Given the description of an element on the screen output the (x, y) to click on. 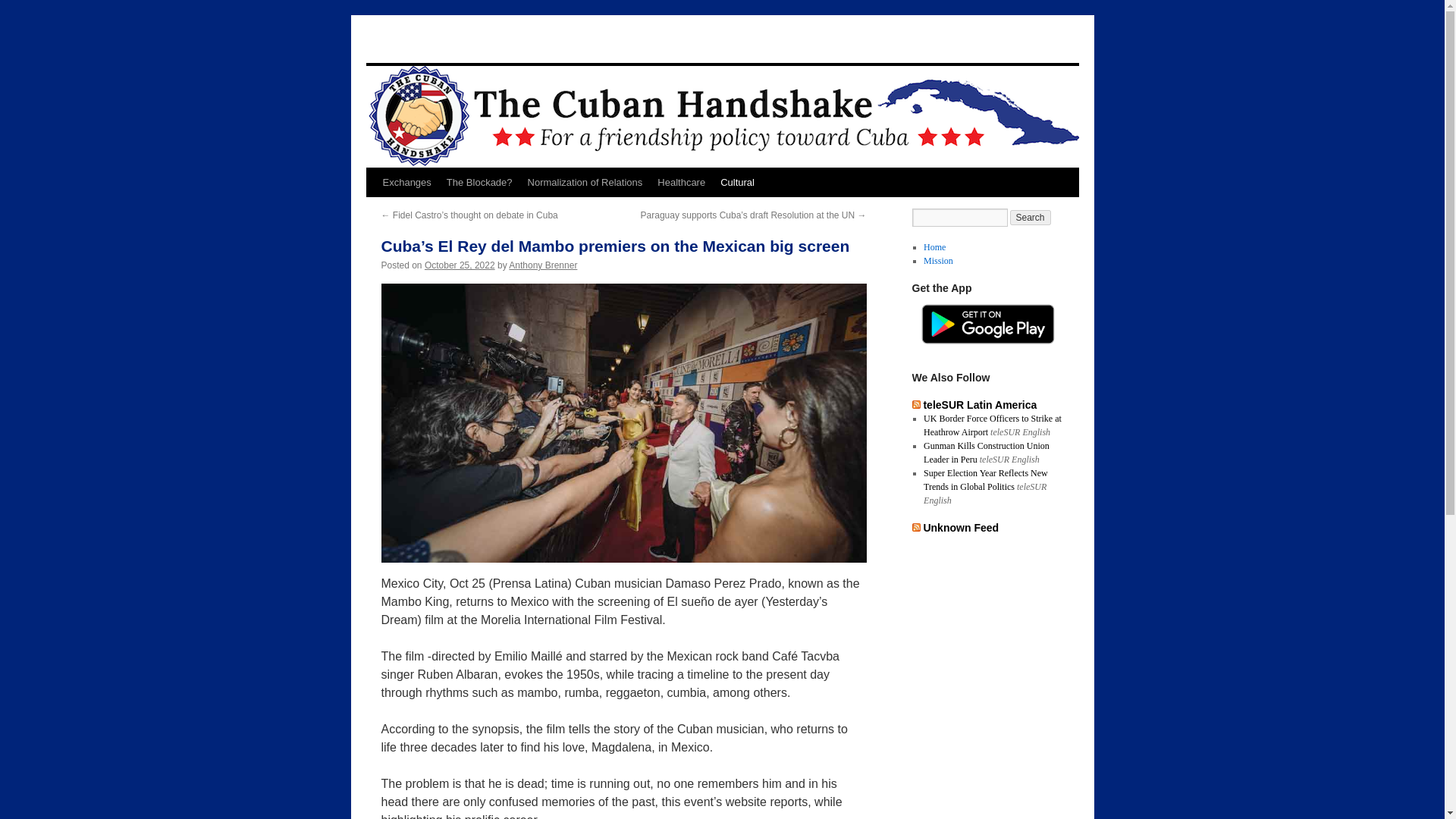
Gunman Kills Construction Union Leader in Peru (986, 452)
Cultural (737, 182)
Unknown Feed (960, 527)
The Blockade? (479, 182)
Search (1030, 217)
View all posts by Anthony Brenner (542, 265)
Normalization of Relations (584, 182)
Home (933, 246)
9:00 pm (460, 265)
teleSUR Latin America (979, 404)
